Given the description of an element on the screen output the (x, y) to click on. 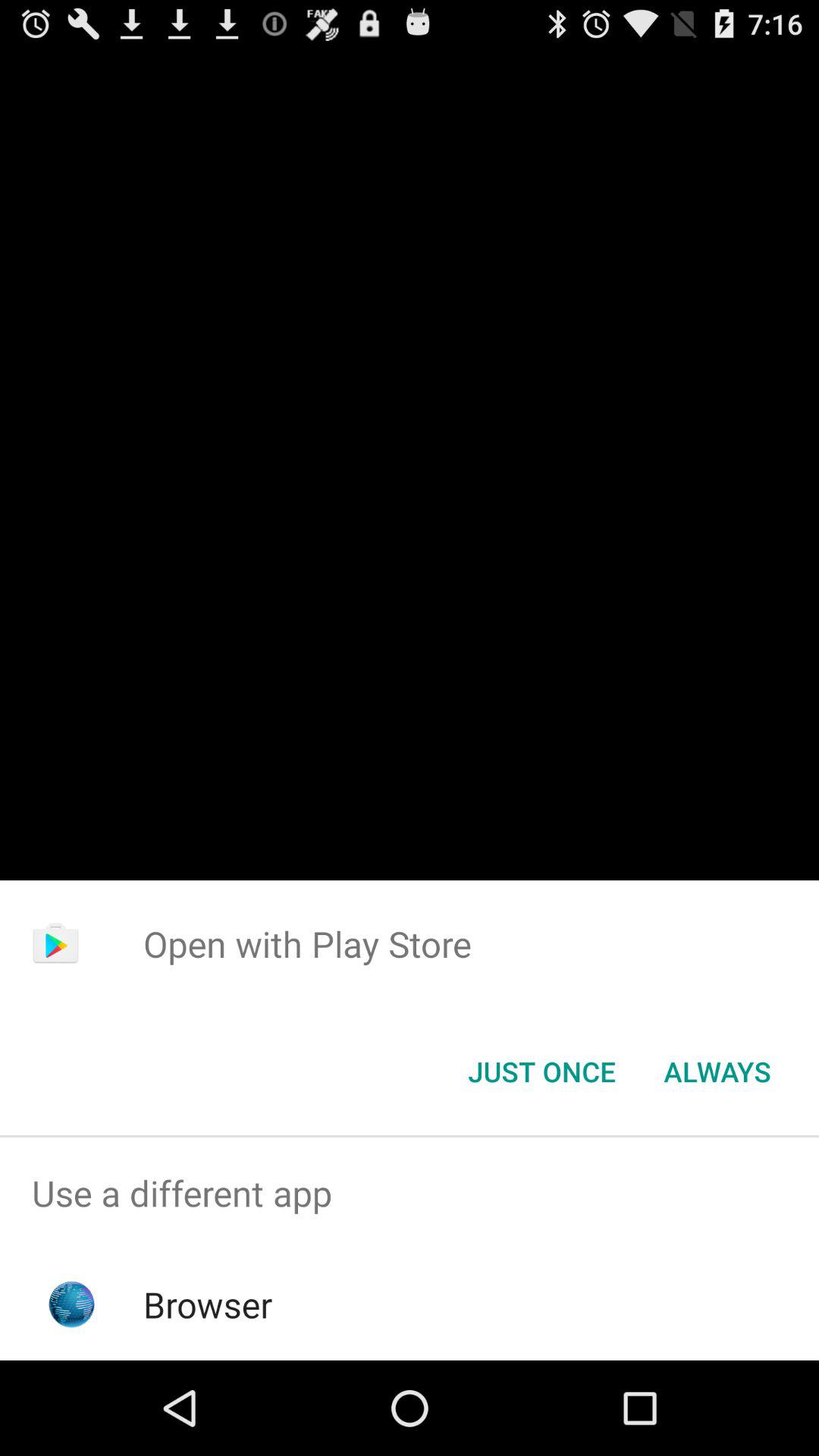
open the icon to the left of always (541, 1071)
